Given the description of an element on the screen output the (x, y) to click on. 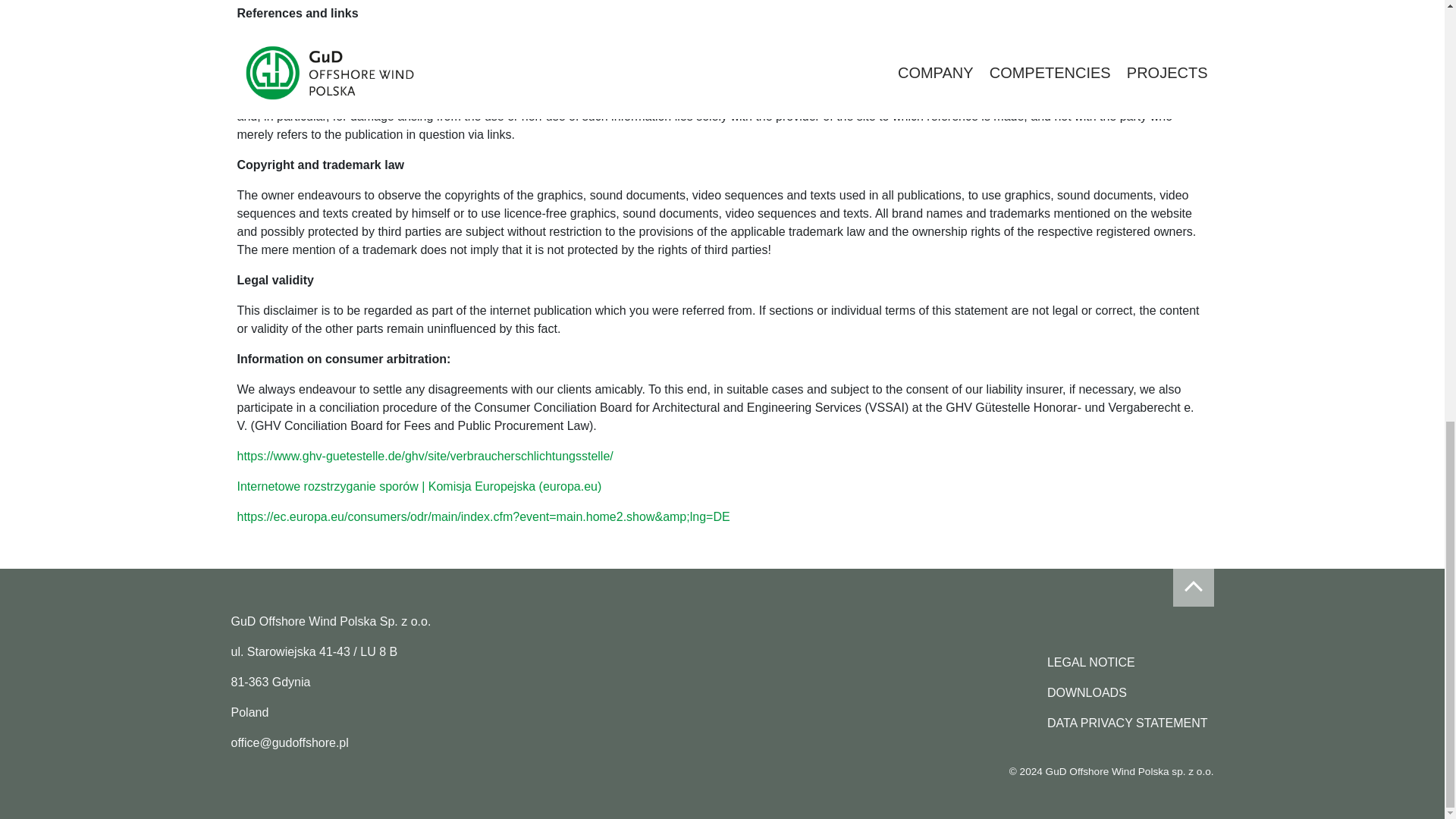
DOWNLOADS (1127, 693)
DATA PRIVACY STATEMENT (1127, 723)
LEGAL NOTICE (1127, 662)
